Given the description of an element on the screen output the (x, y) to click on. 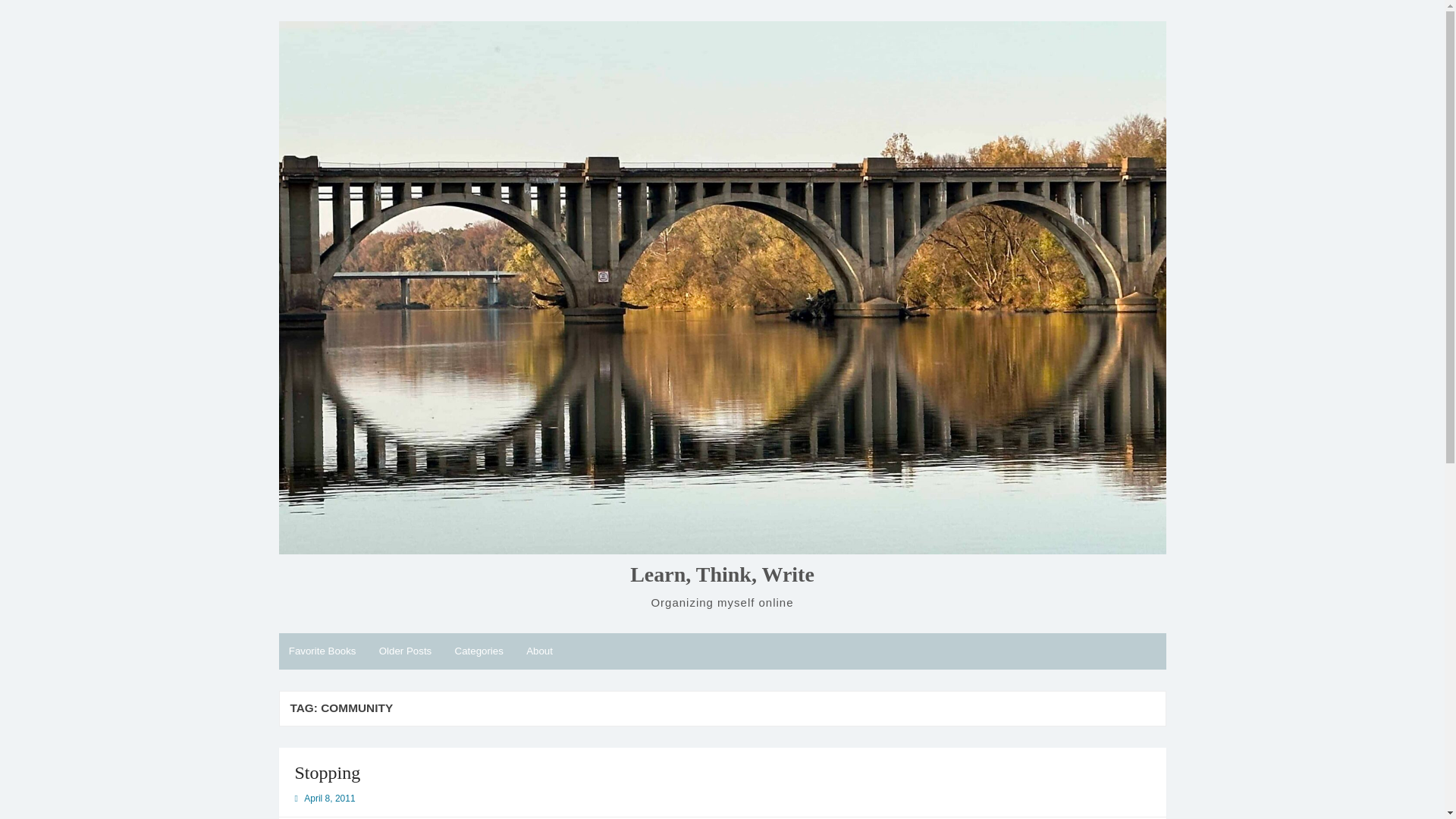
Learn, Think, Write (721, 574)
Categories (478, 651)
Stopping (326, 772)
Older Posts (404, 651)
April 8, 2011 (329, 798)
About (539, 651)
Favorite Books (322, 651)
